Given the description of an element on the screen output the (x, y) to click on. 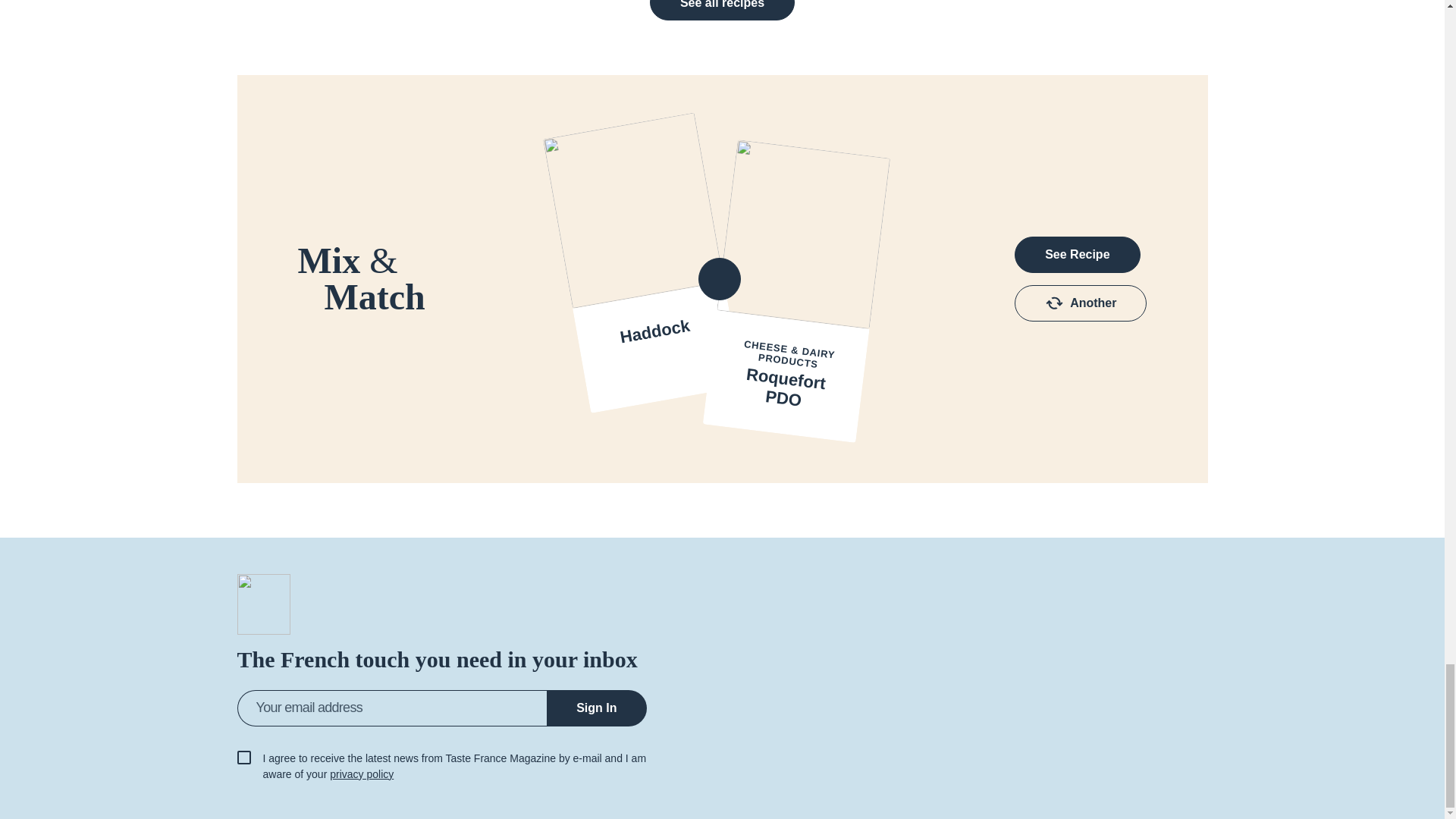
1 (242, 757)
